Given the description of an element on the screen output the (x, y) to click on. 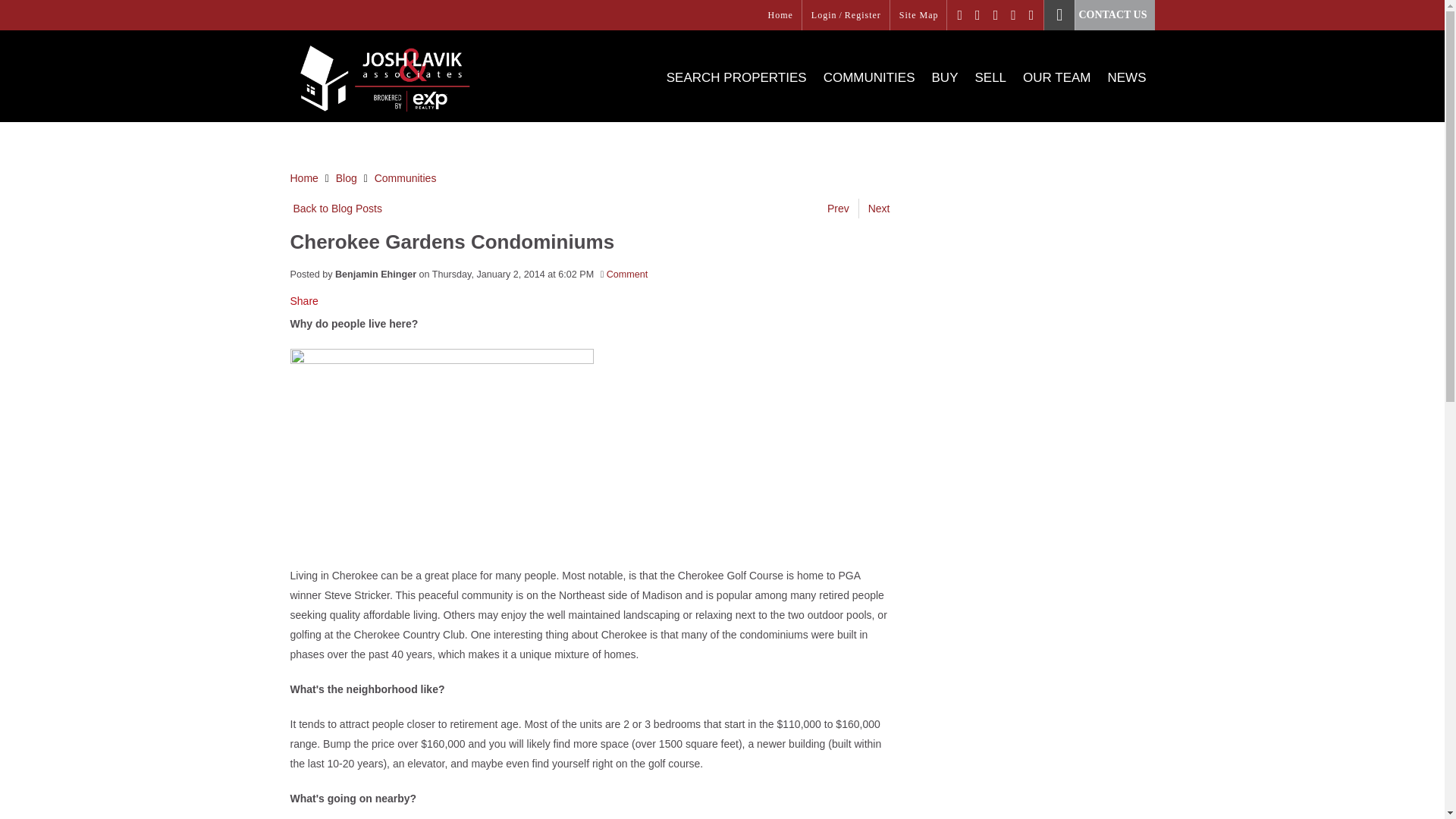
CONTACT US (1098, 14)
Home (779, 14)
Register (862, 14)
Site Map (919, 14)
SEARCH PROPERTIES (736, 89)
COMMUNITIES (869, 89)
